Given the description of an element on the screen output the (x, y) to click on. 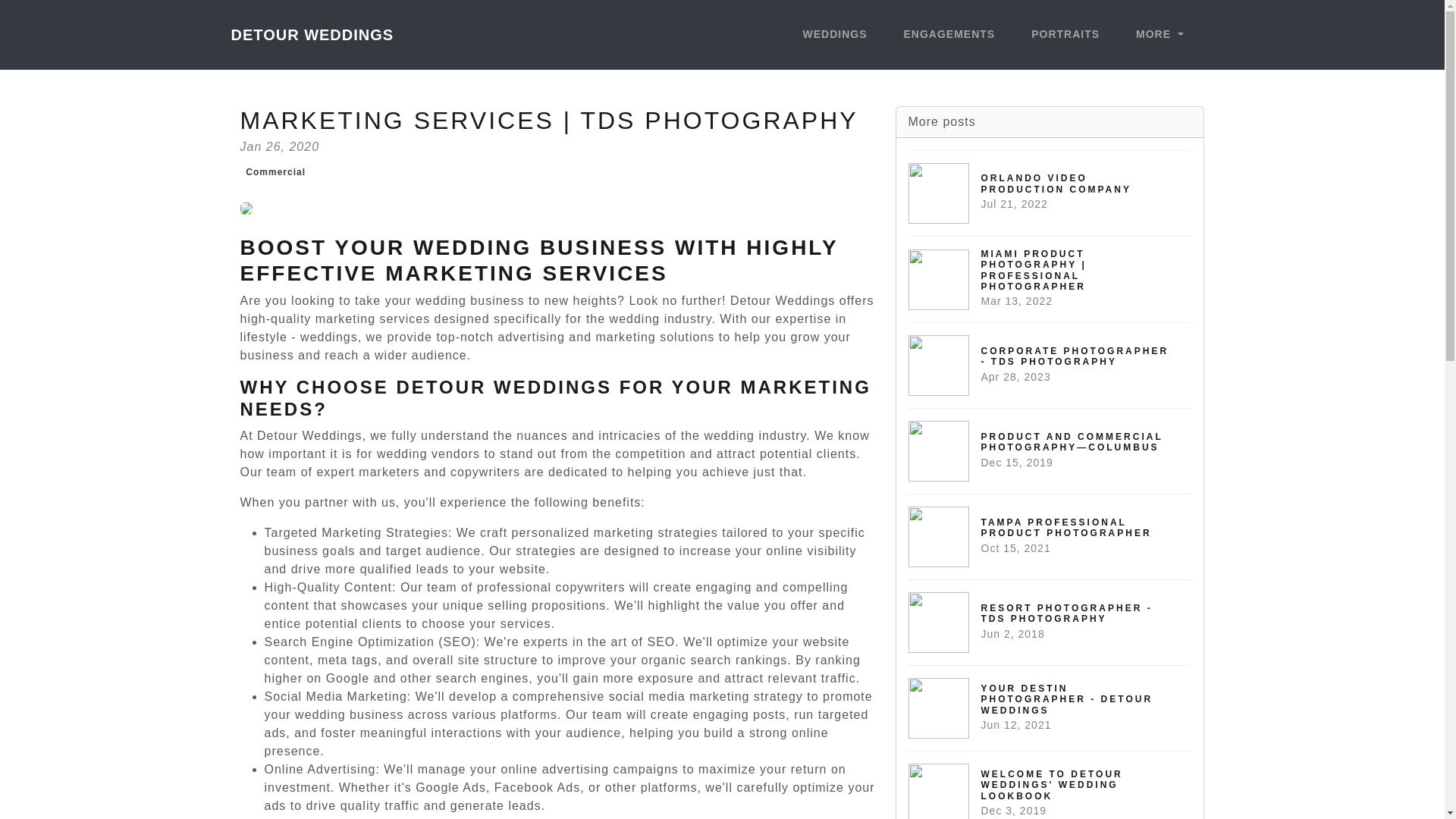
Commercial (1050, 536)
DETOUR WEDDINGS (275, 172)
MORE (1050, 622)
PORTRAITS (1050, 364)
ENGAGEMENTS (1050, 708)
WEDDINGS (311, 34)
